Given the description of an element on the screen output the (x, y) to click on. 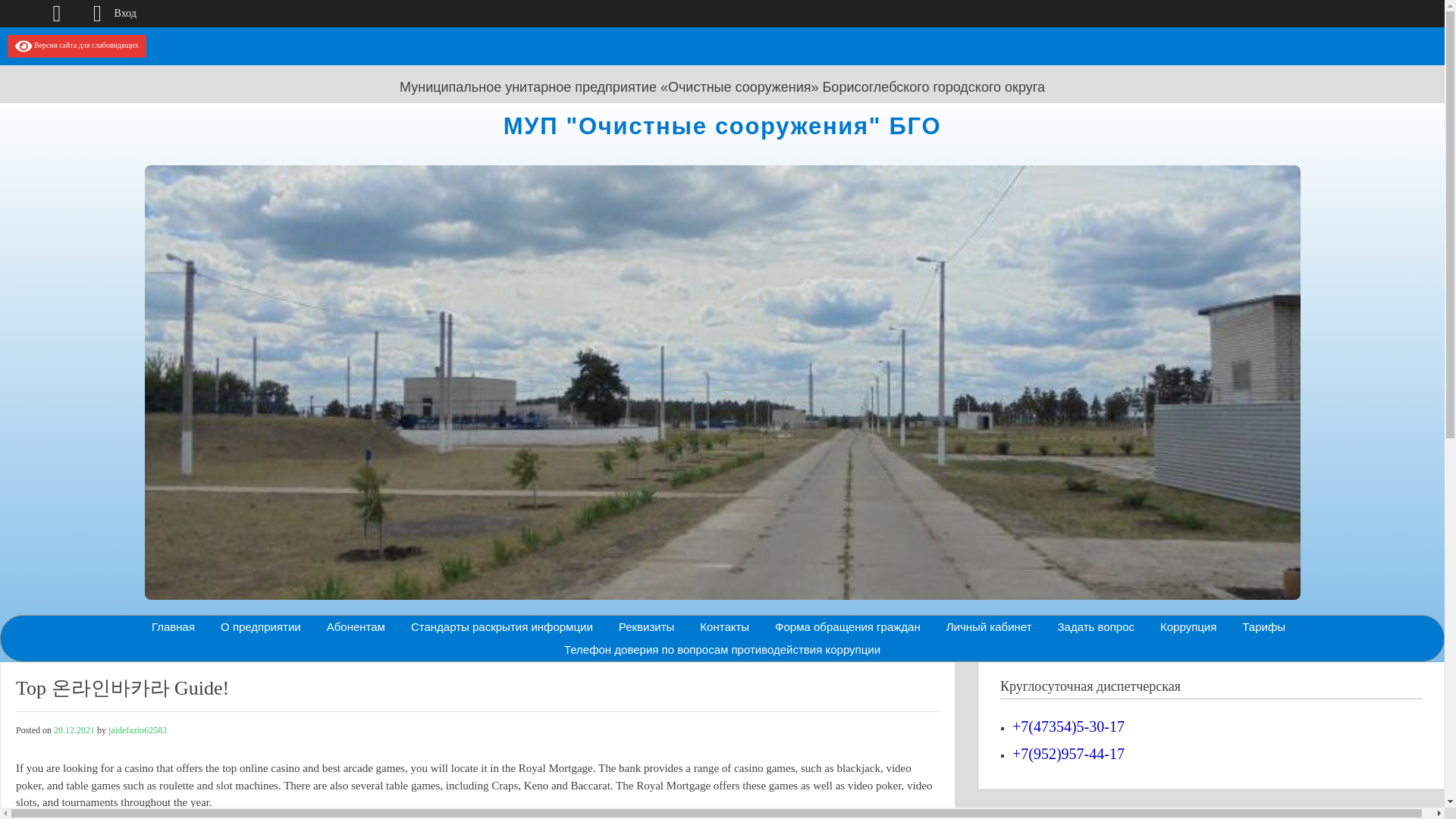
jaidefazio62583 (137, 729)
20.12.2021 (73, 729)
